Given the description of an element on the screen output the (x, y) to click on. 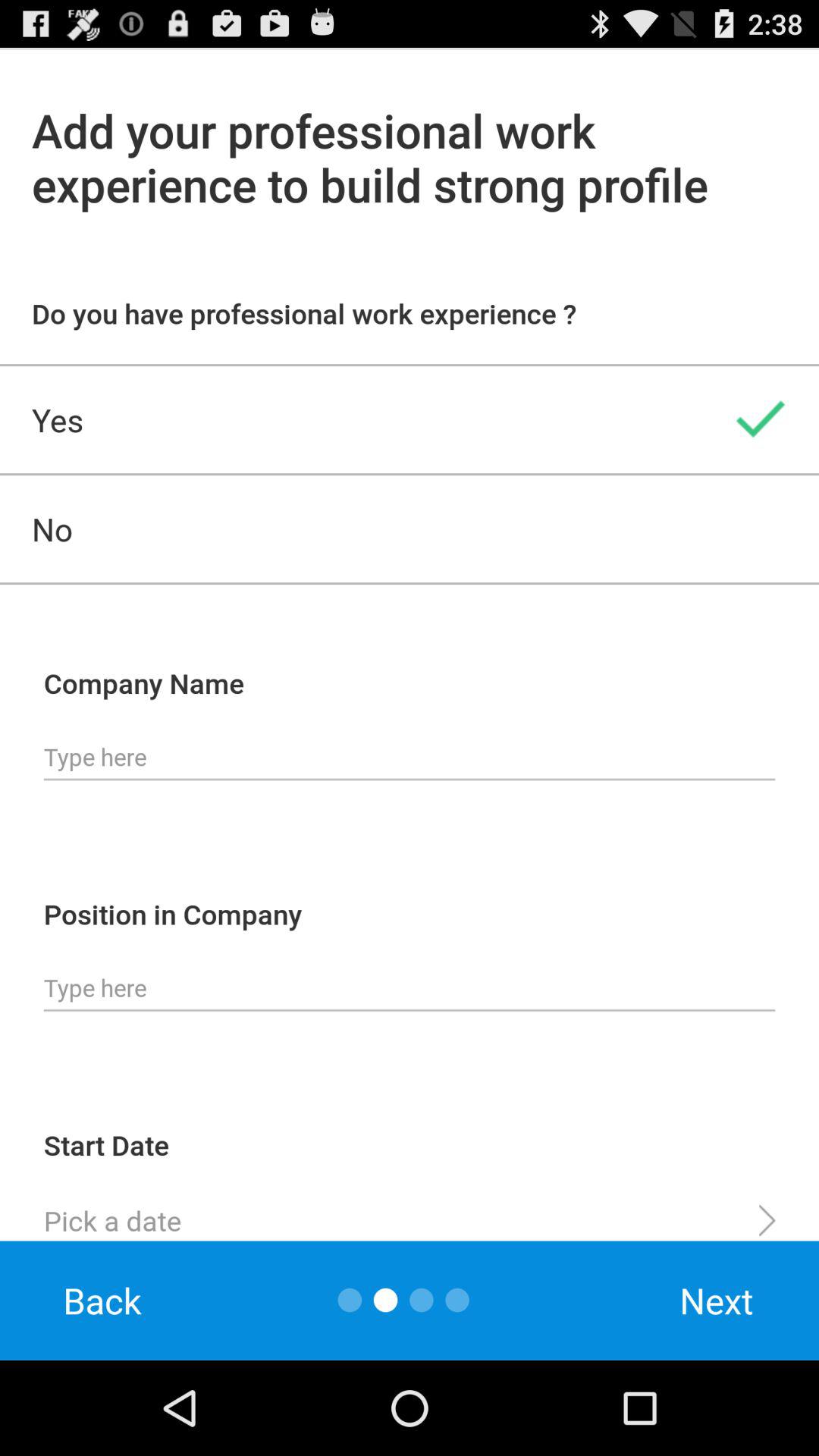
company name input (409, 757)
